Given the description of an element on the screen output the (x, y) to click on. 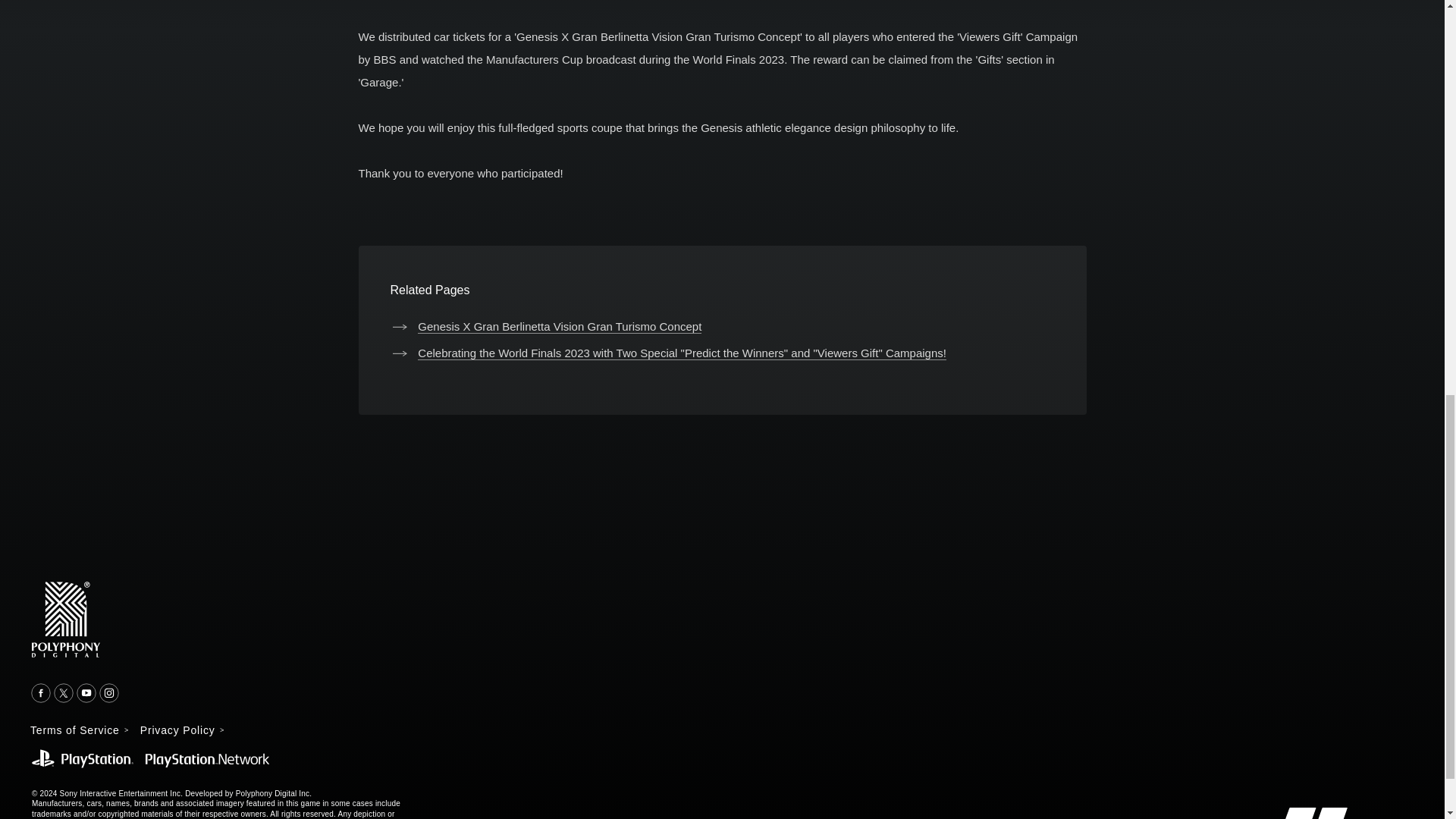
Genesis X Gran Berlinetta Vision Gran Turismo Concept (545, 326)
Terms of Service (79, 729)
Privacy Policy (181, 729)
